Given the description of an element on the screen output the (x, y) to click on. 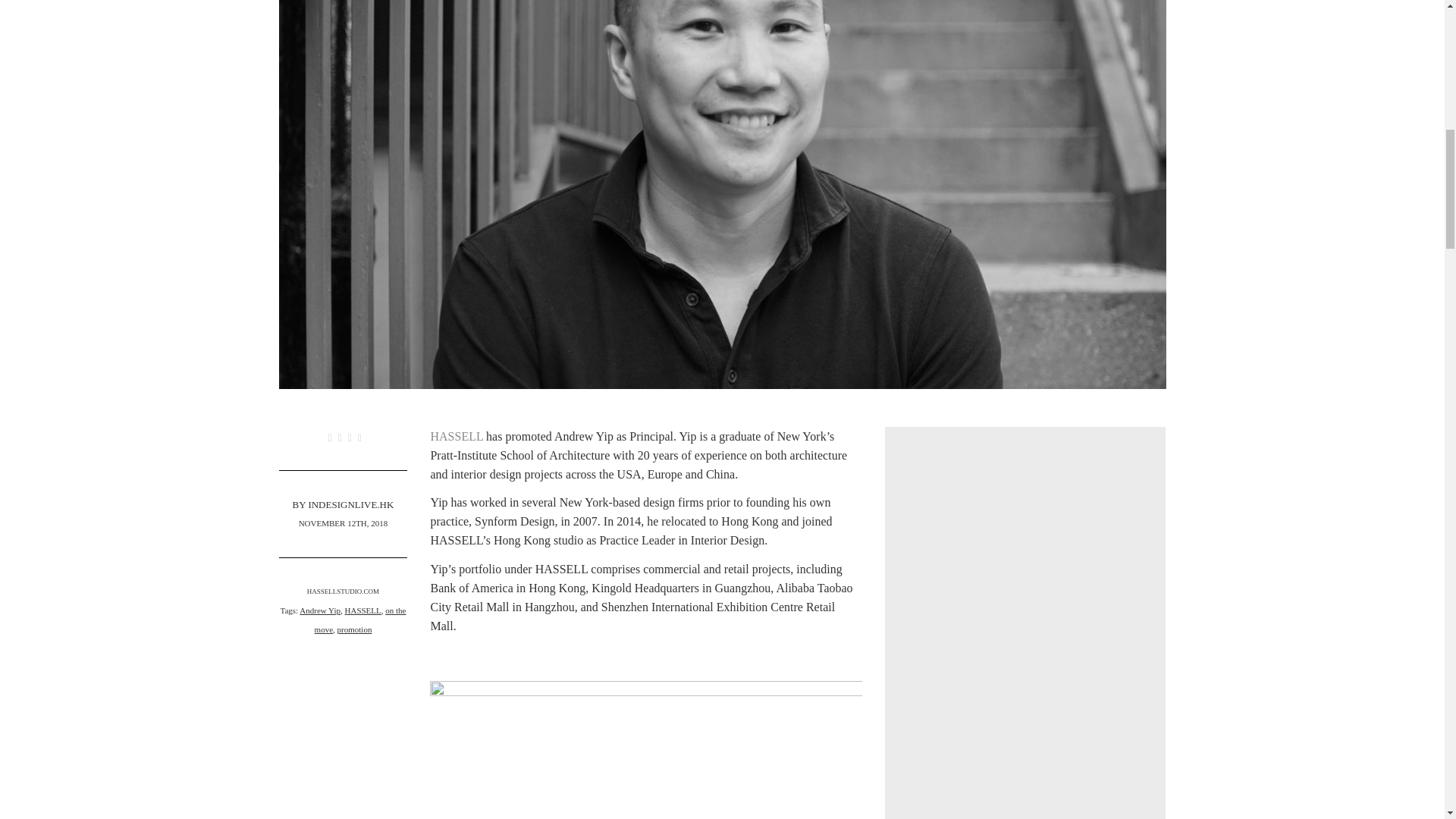
Posts by INDESIGNLIVE.HK (350, 504)
